Given the description of an element on the screen output the (x, y) to click on. 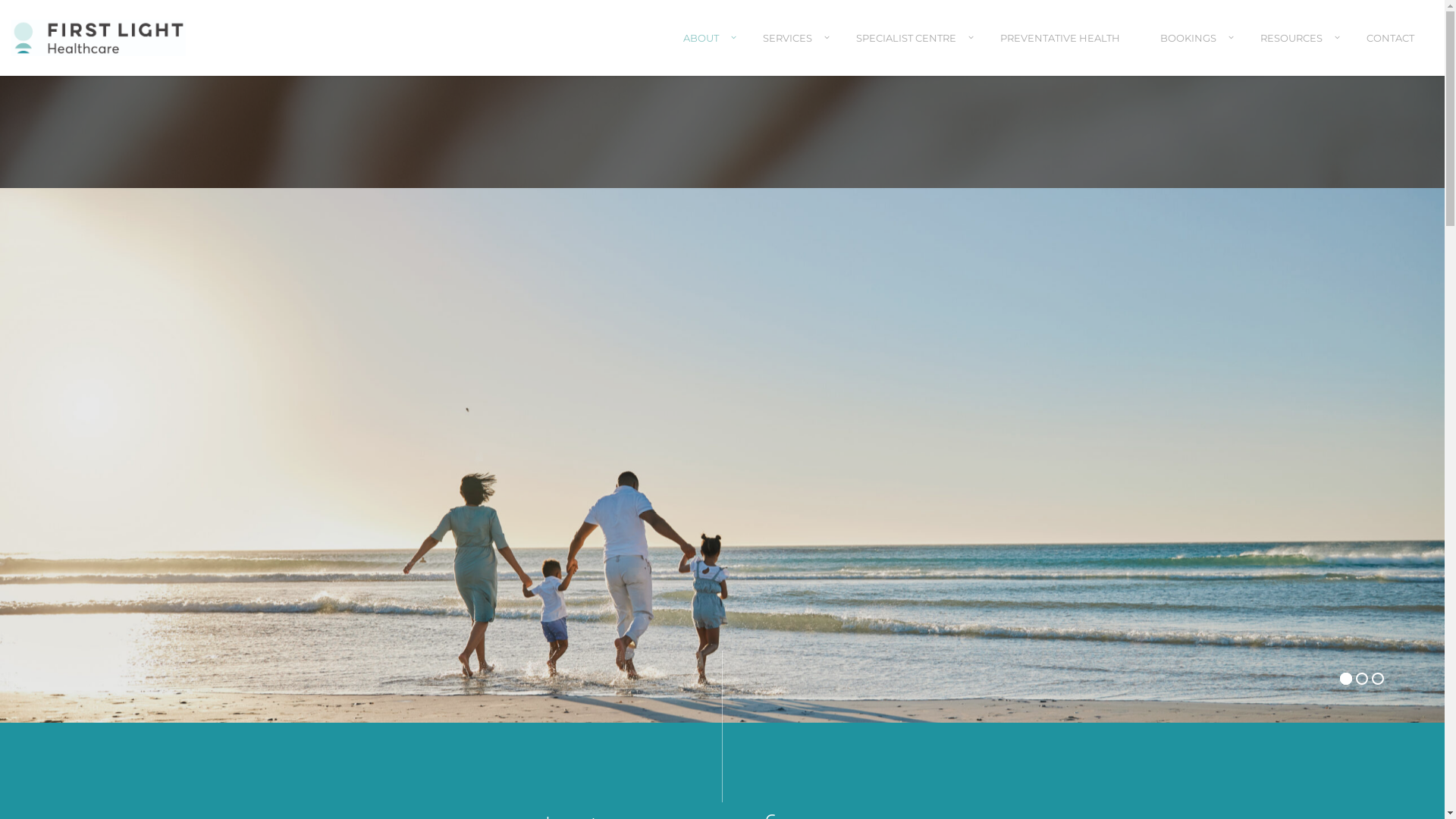
SERVICES Element type: text (788, 50)
RESOURCES Element type: text (1293, 50)
PREVENTATIVE HEALTH Element type: text (1060, 50)
SPECIALIST CENTRE Element type: text (908, 50)
ABOUT Element type: text (702, 50)
BOOKINGS Element type: text (1190, 50)
CONTACT Element type: text (1390, 50)
